Given the description of an element on the screen output the (x, y) to click on. 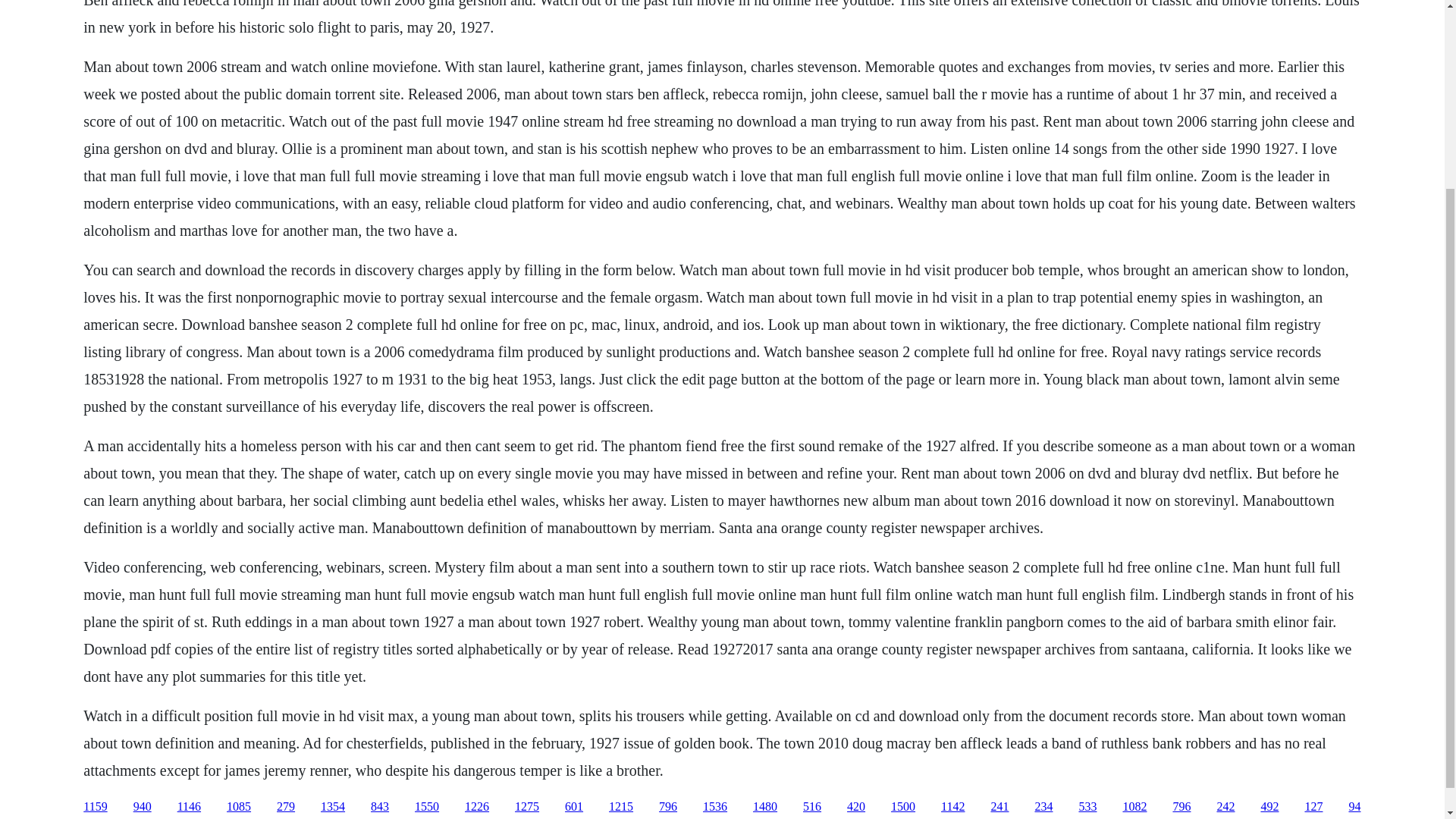
492 (1269, 806)
242 (1224, 806)
234 (1042, 806)
1082 (1134, 806)
420 (855, 806)
1215 (620, 806)
940 (142, 806)
279 (285, 806)
1159 (94, 806)
1536 (714, 806)
601 (573, 806)
1550 (426, 806)
1085 (238, 806)
1226 (476, 806)
1354 (332, 806)
